Given the description of an element on the screen output the (x, y) to click on. 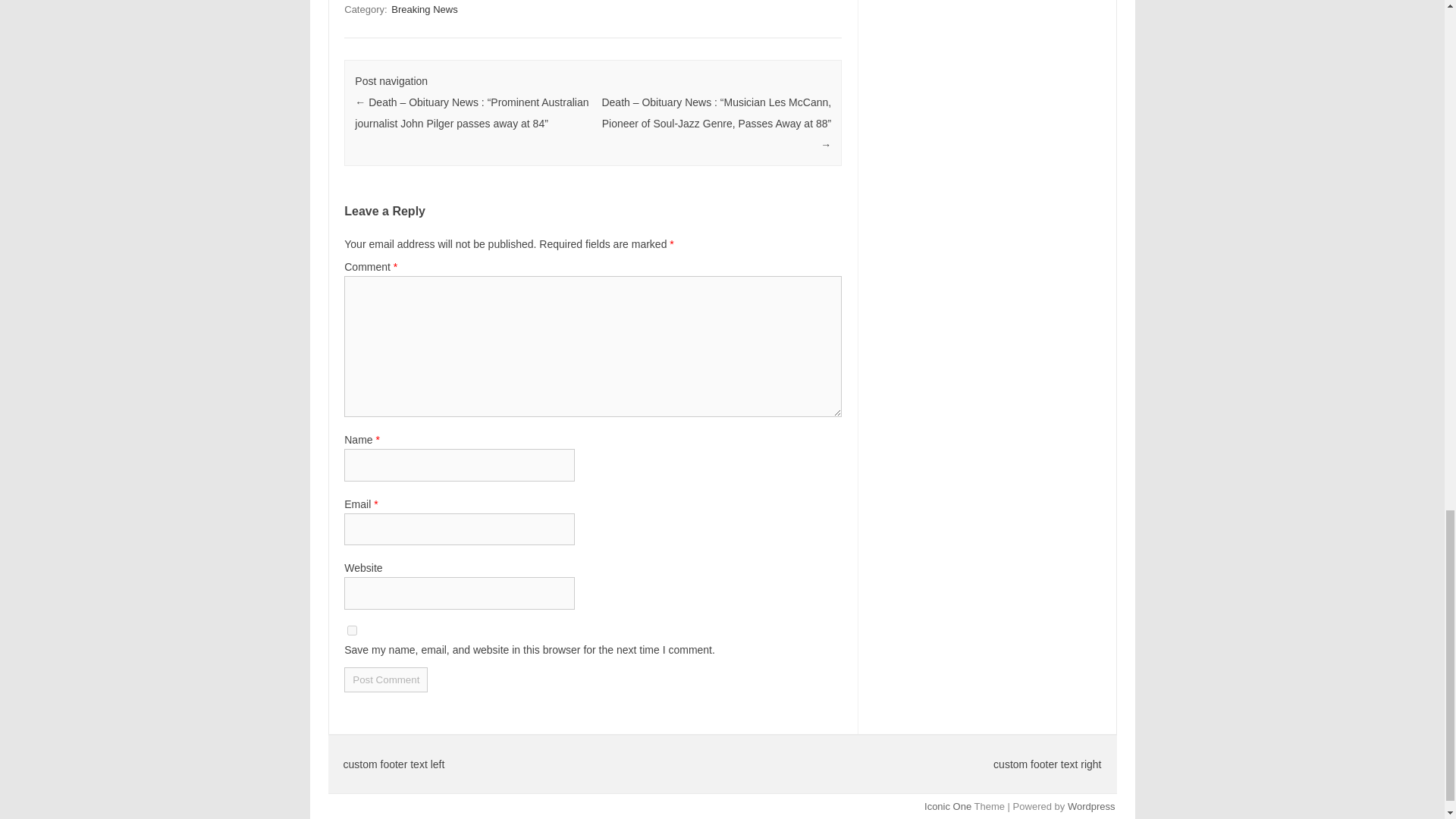
yes (351, 630)
Breaking News (424, 9)
Wordpress (1091, 806)
Post Comment (385, 679)
Iconic One (947, 806)
Post Comment (385, 679)
